Given the description of an element on the screen output the (x, y) to click on. 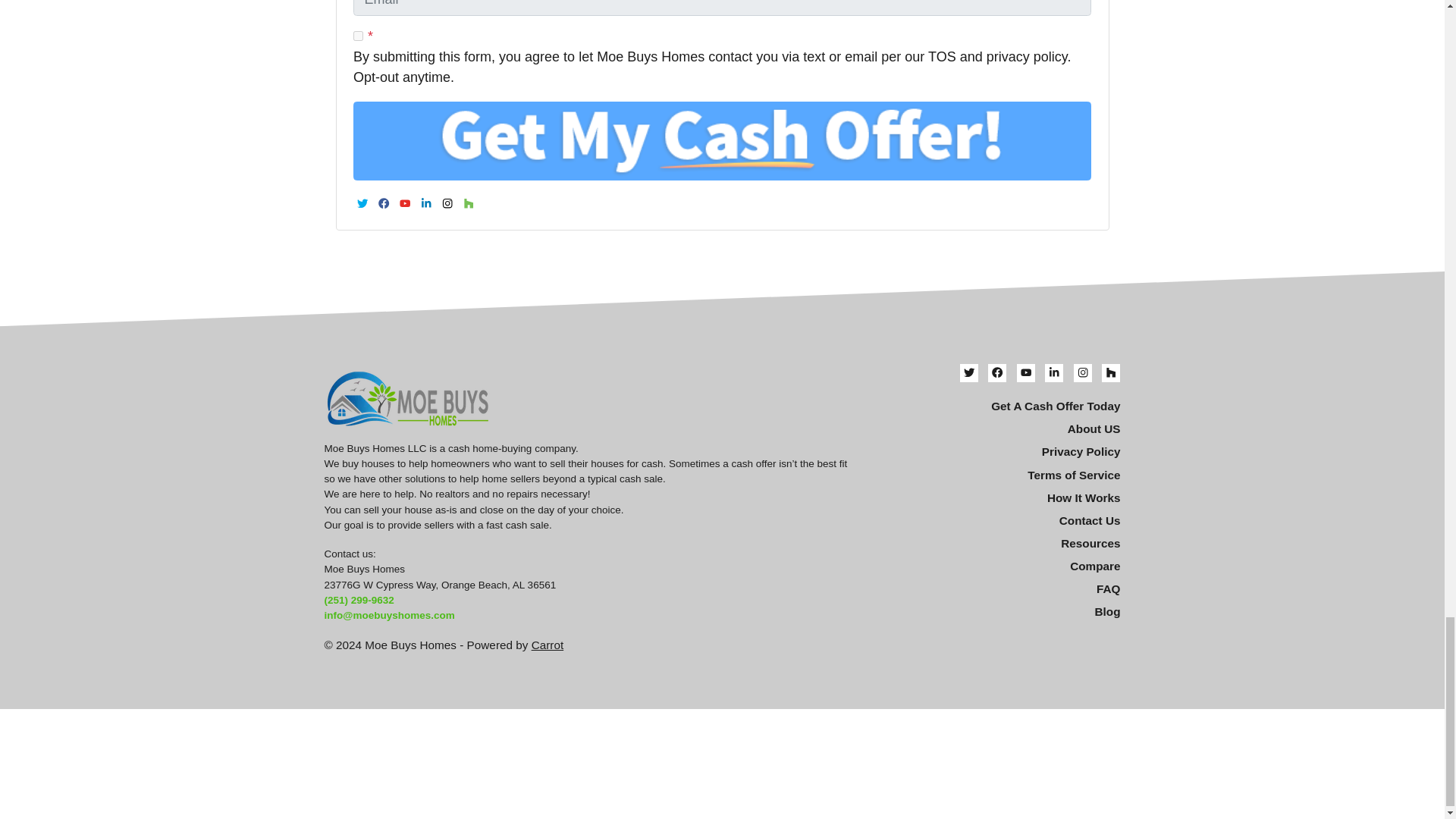
Twitter (362, 203)
Selling Your Home to a Cash Buyer vs. A Real Estate Agent (995, 566)
Facebook (383, 203)
YouTube (404, 203)
1 (357, 35)
